Given the description of an element on the screen output the (x, y) to click on. 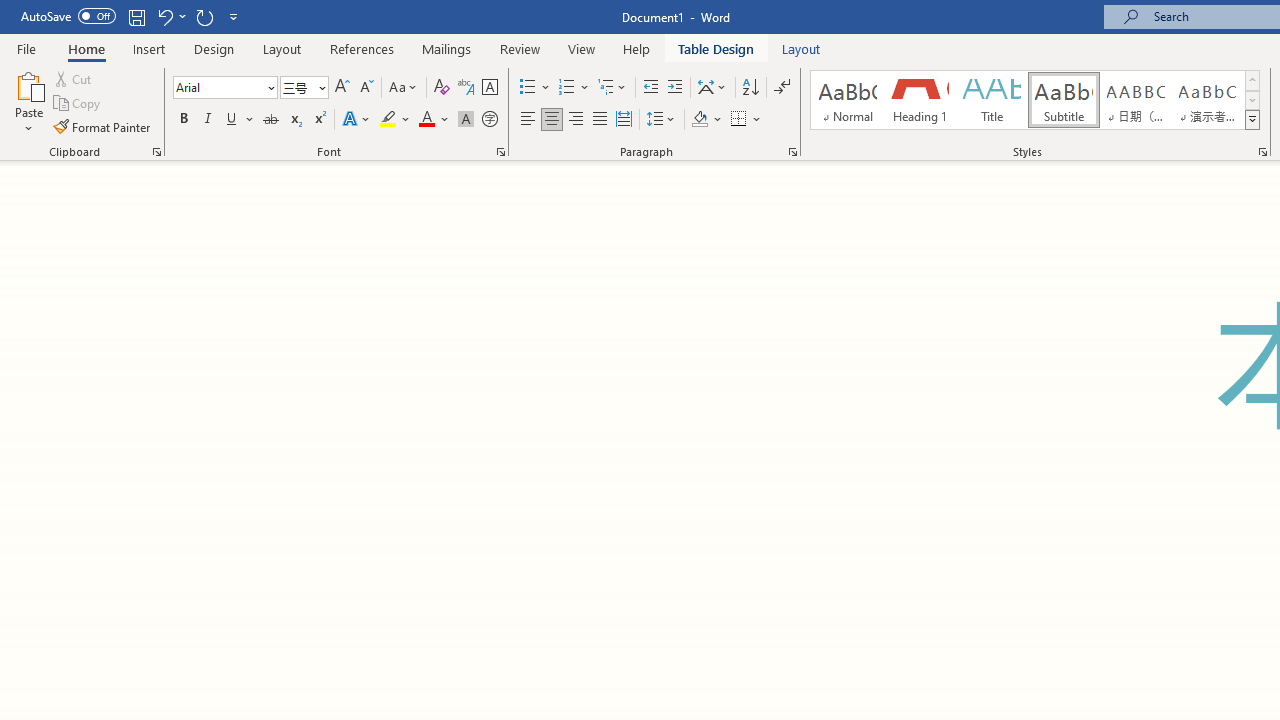
Distributed (623, 119)
Shading (706, 119)
Undo Paste (170, 15)
Increase Indent (675, 87)
Heading 1 (920, 100)
Text Highlight Color Yellow (388, 119)
Superscript (319, 119)
Strikethrough (270, 119)
